Given the description of an element on the screen output the (x, y) to click on. 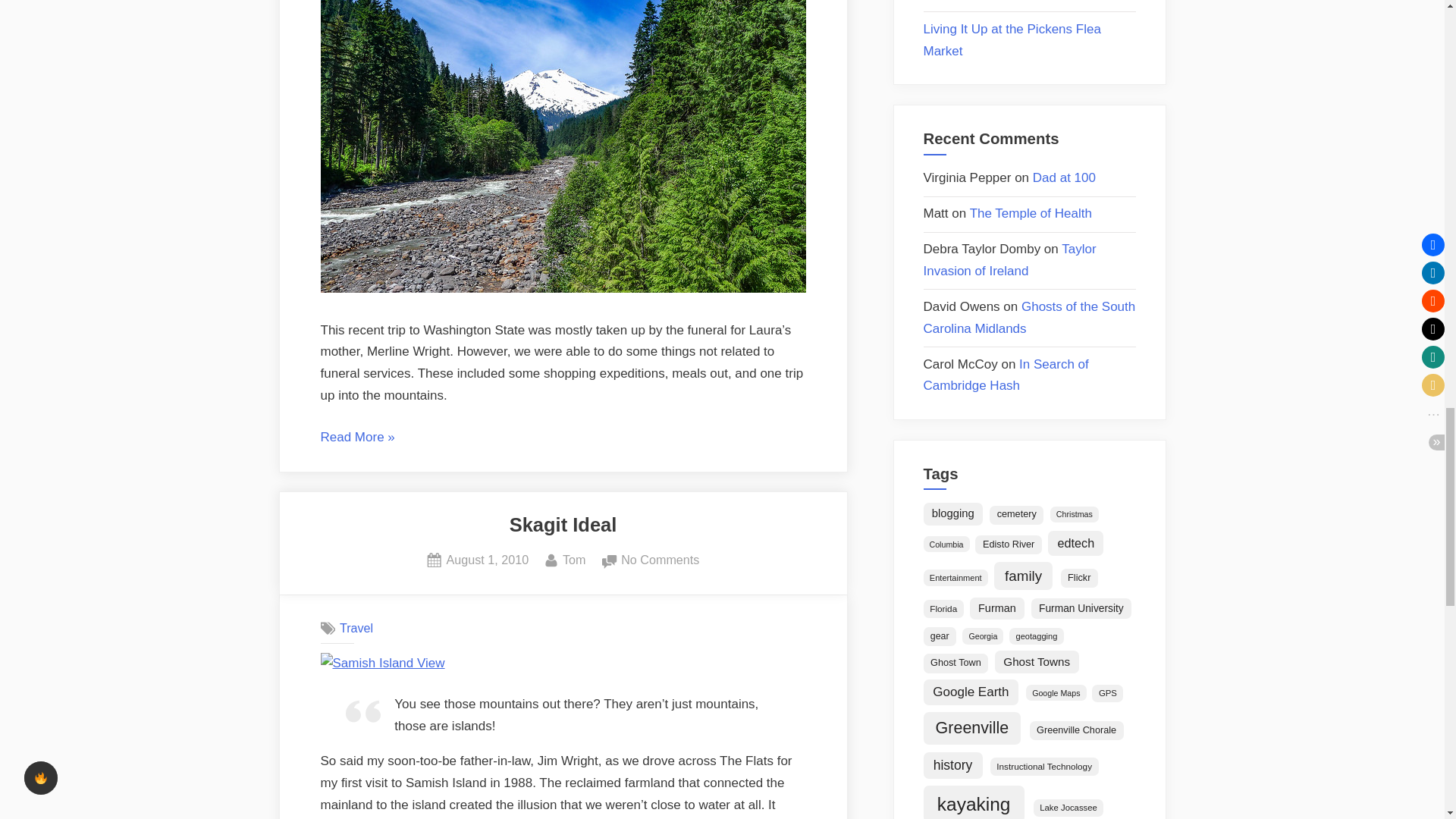
Mount Baker over Bear Creek-001 (562, 288)
Samish Island View by RandomConnections, on Flickr (382, 663)
